Given the description of an element on the screen output the (x, y) to click on. 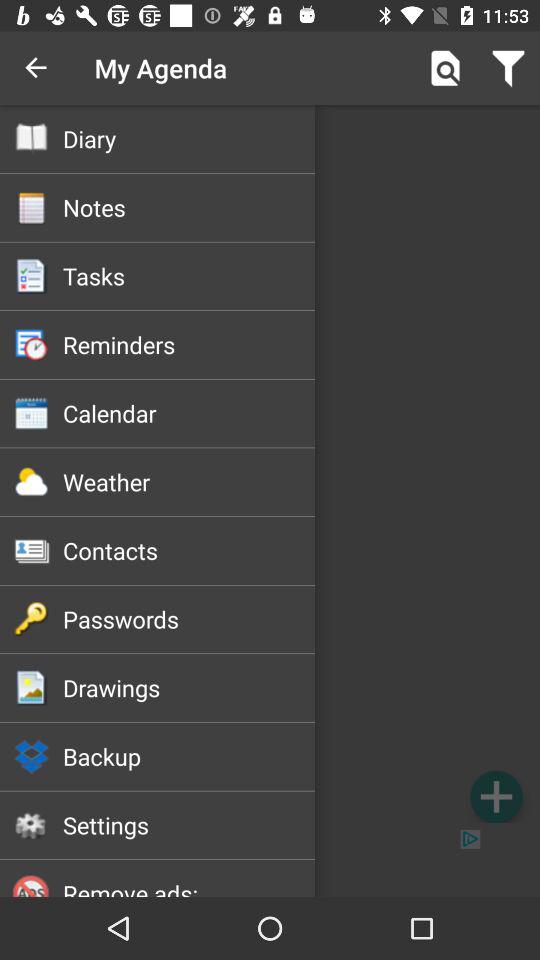
choose the passwords item (188, 619)
